Given the description of an element on the screen output the (x, y) to click on. 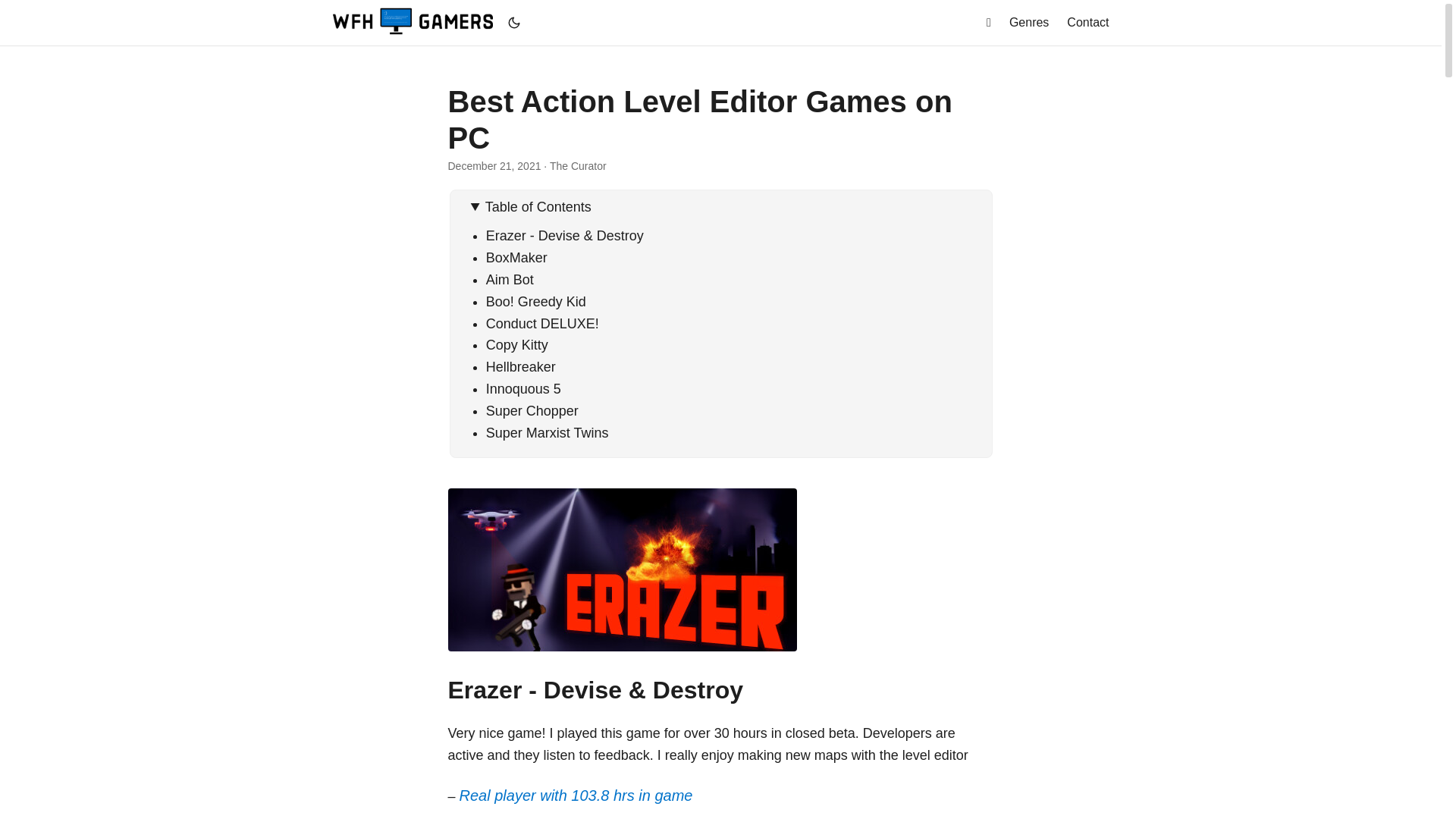
Contact (1087, 22)
Hellbreaker (521, 366)
Boo! Greedy Kid (536, 301)
Copy Kitty (517, 344)
Innoquous 5 (523, 388)
BoxMaker (516, 257)
Conduct DELUXE! (542, 323)
Super Marxist Twins (547, 432)
Super Chopper (532, 410)
Real player with 103.8 hrs in game (576, 795)
